Given the description of an element on the screen output the (x, y) to click on. 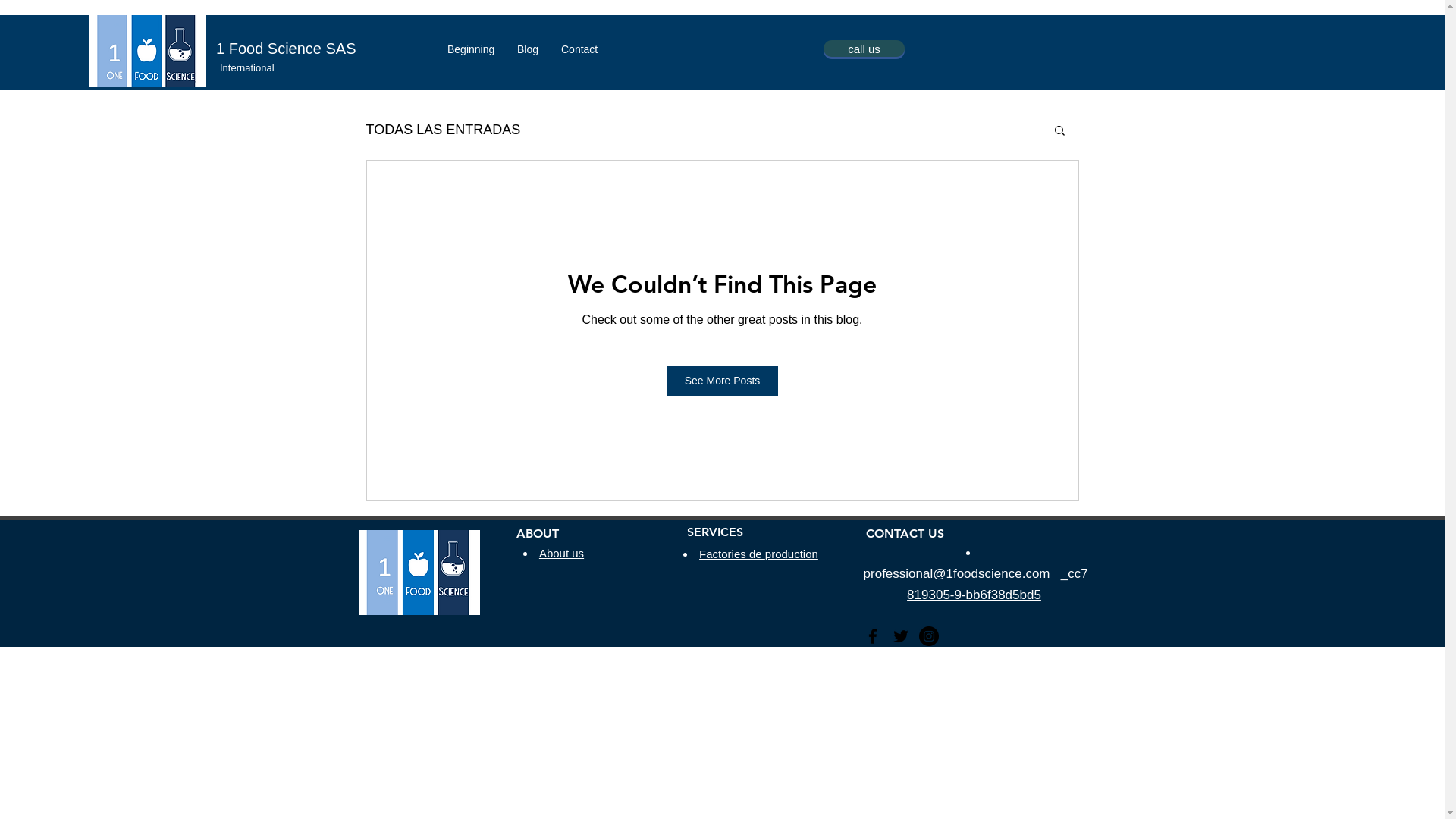
Blog Element type: text (527, 49)
About us Element type: text (561, 552)
See More Posts Element type: text (722, 380)
Factories de production Element type: text (758, 553)
Contact Element type: text (578, 49)
Beginning Element type: text (470, 49)
call us Element type: text (863, 48)
 professional@1foodscience.com   _cc7819305-9-bb6f38d5bd5 Element type: text (973, 584)
TODAS LAS ENTRADAS Element type: text (442, 129)
